Given the description of an element on the screen output the (x, y) to click on. 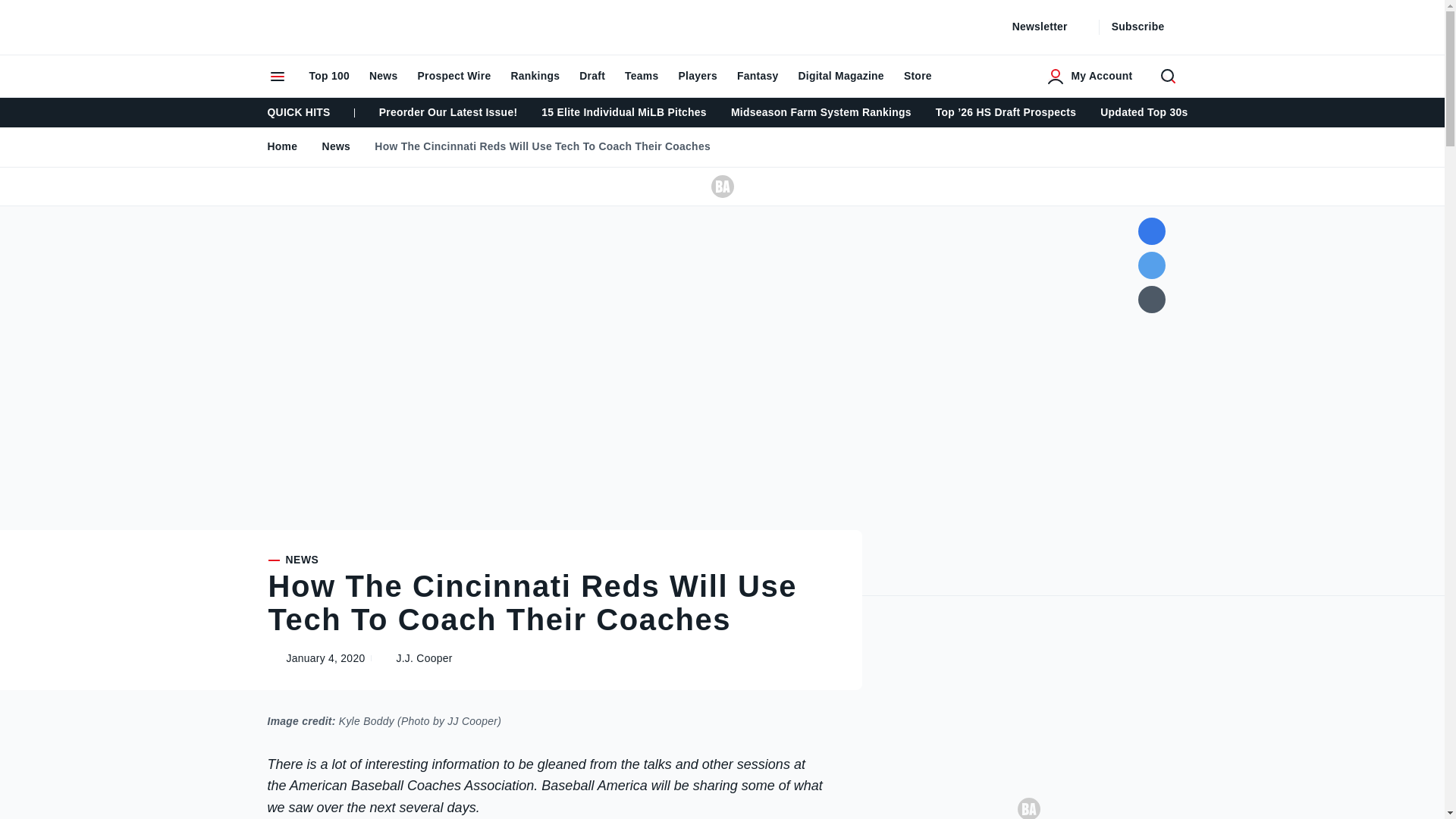
Share via email (1150, 298)
Share on Facebook (1150, 230)
Players (697, 76)
Teams (641, 76)
Post date (312, 658)
Rankings (534, 76)
15 Elite Individual MiLB Pitches (624, 112)
Draft (591, 76)
Updated Top 30s (1143, 112)
News (383, 76)
